Given the description of an element on the screen output the (x, y) to click on. 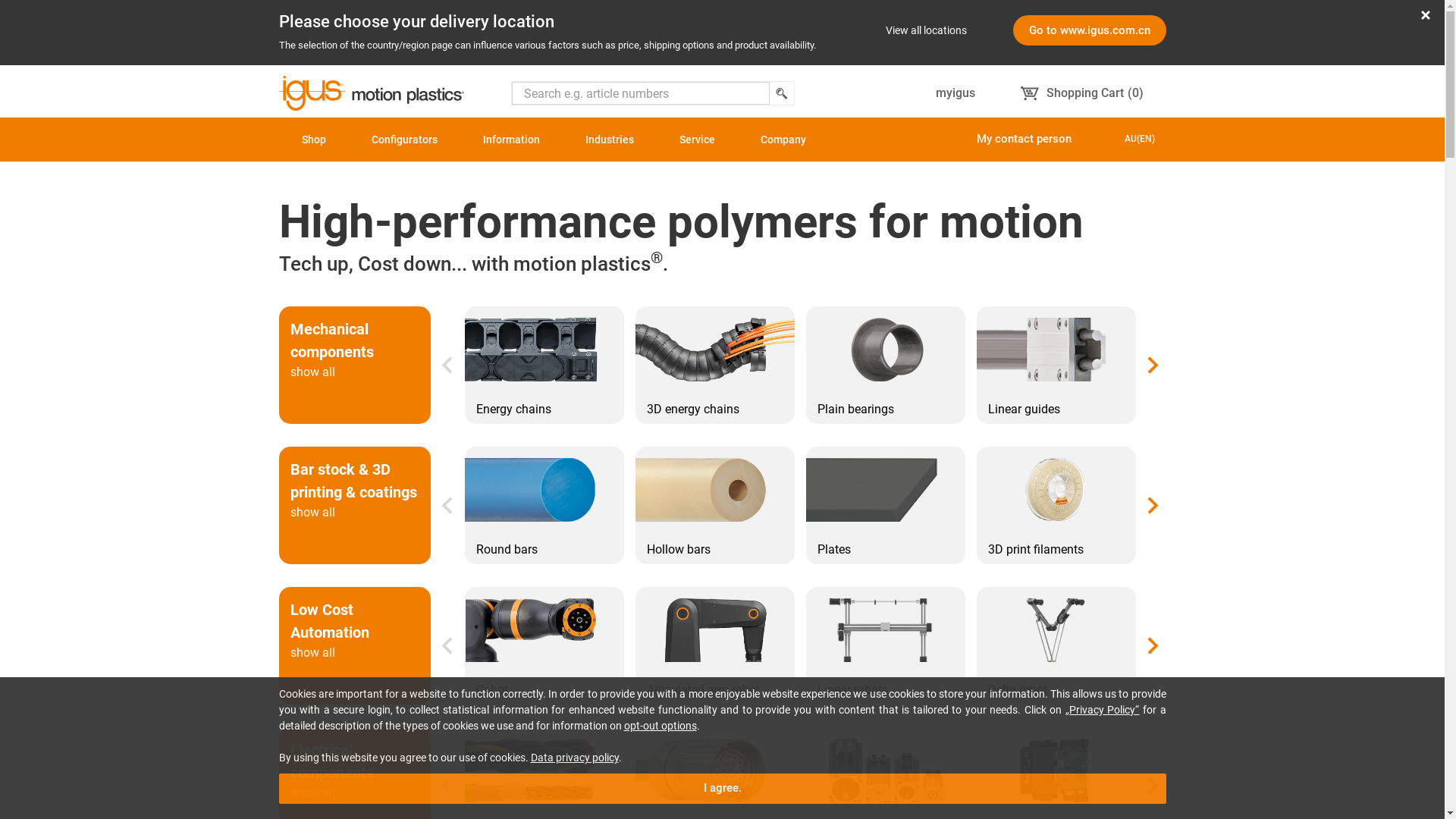
opt-out options Element type: text (659, 725)
Delta robot Element type: text (1055, 694)
Energy chains Element type: text (543, 413)
Go to www.igus.com.cn Element type: text (1089, 30)
Cobot Element type: text (543, 694)
AU(EN) Element type: text (1139, 138)
3D print filaments Element type: text (1055, 553)
Round bars Element type: text (543, 553)
3D energy chains Element type: text (714, 413)
Plain bearings Element type: text (884, 413)
View all locations Element type: text (925, 30)
I agree. Element type: text (722, 788)
Shopping Cart
(0) Element type: text (1081, 93)
Hollow bars Element type: text (714, 553)
Low Cost Automation
show all Element type: text (354, 645)
Articulated arm robot Element type: text (714, 694)
Data privacy policy Element type: text (574, 757)
Linear guides Element type: text (1055, 413)
Linear robots Element type: text (884, 694)
myigus Element type: text (955, 93)
Bar stock & 3D printing & coatings
show all Element type: text (354, 505)
Plates Element type: text (884, 553)
Mechanical components
show all Element type: text (354, 364)
